Given the description of an element on the screen output the (x, y) to click on. 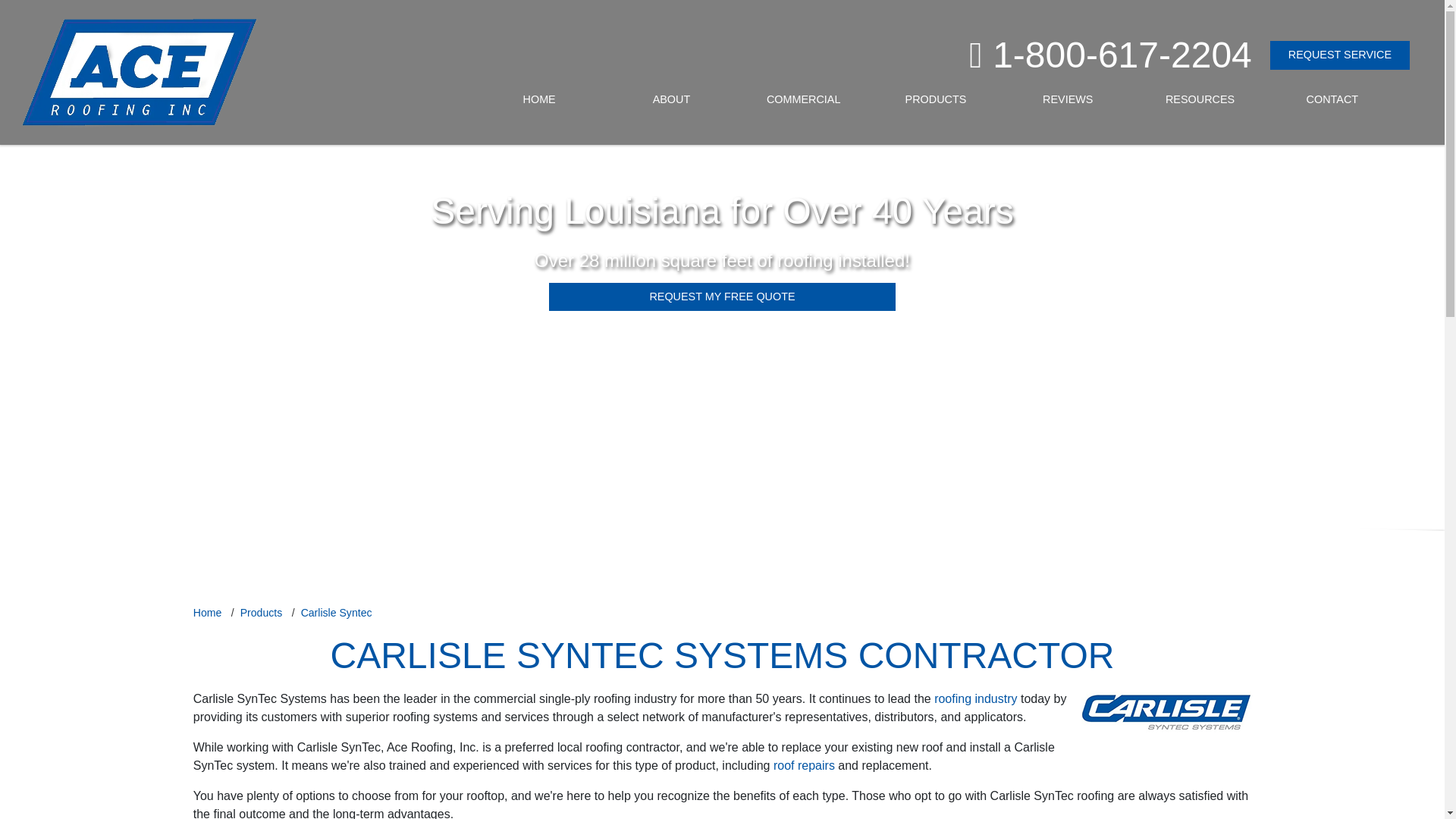
ABOUT (670, 99)
HOME (539, 99)
1-800-617-2204 (1119, 55)
REQUEST SERVICE (1339, 54)
